Given the description of an element on the screen output the (x, y) to click on. 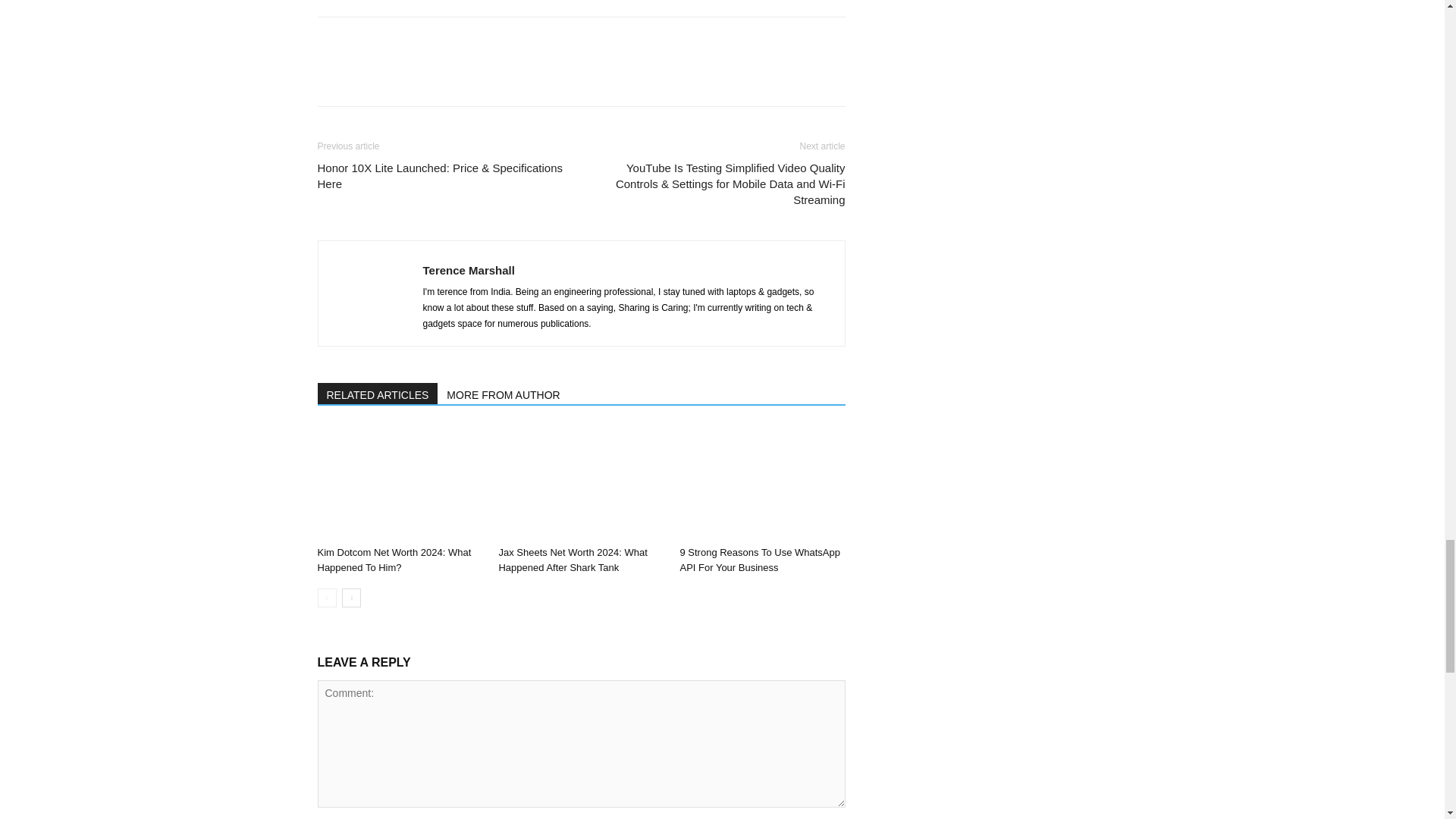
bottomFacebookLike (430, 41)
